Given the description of an element on the screen output the (x, y) to click on. 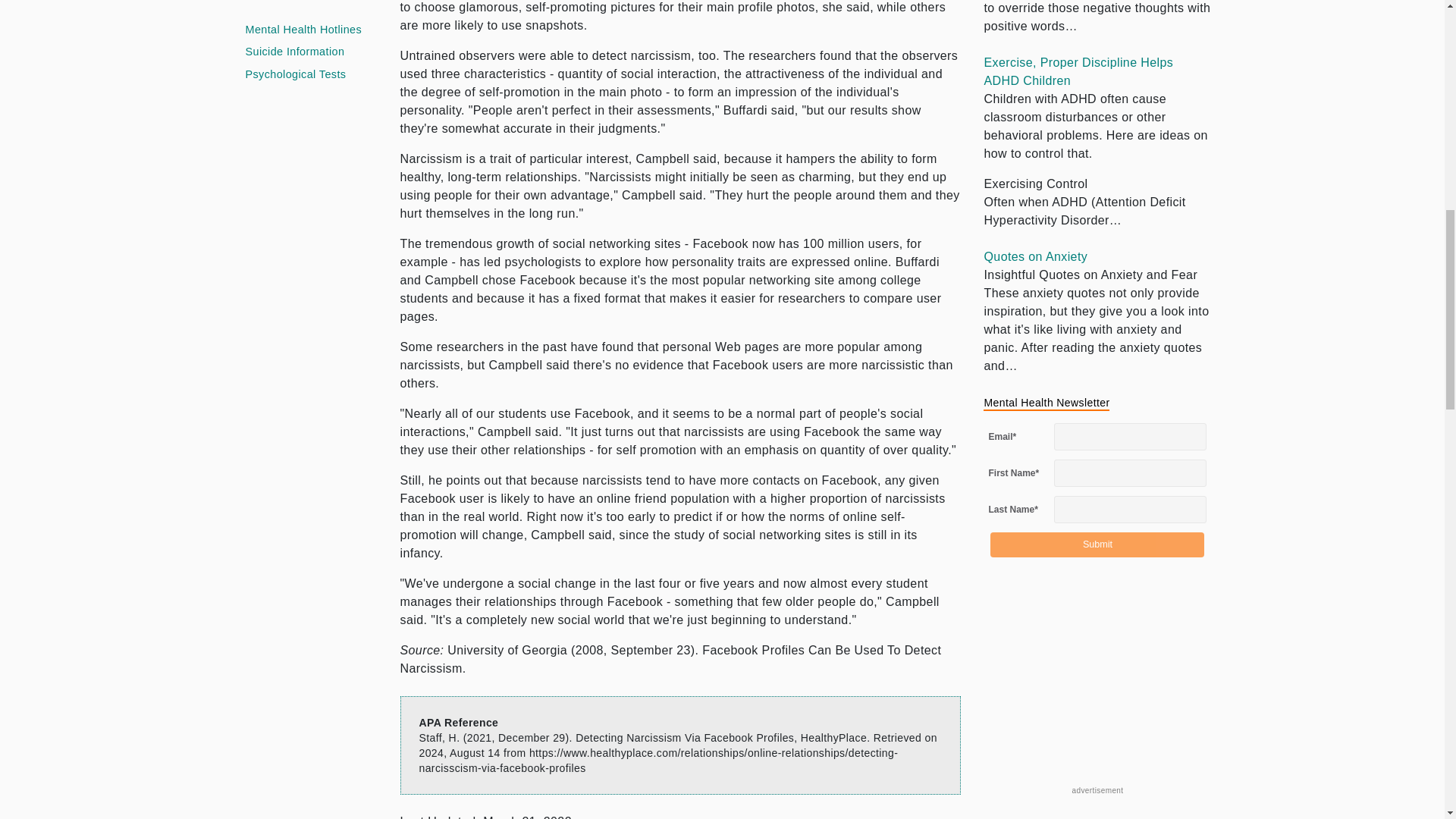
Submit (1097, 544)
Mental Health Hotline Numbers and Referral Resources (304, 30)
Take a Psychological Test (296, 74)
